Given the description of an element on the screen output the (x, y) to click on. 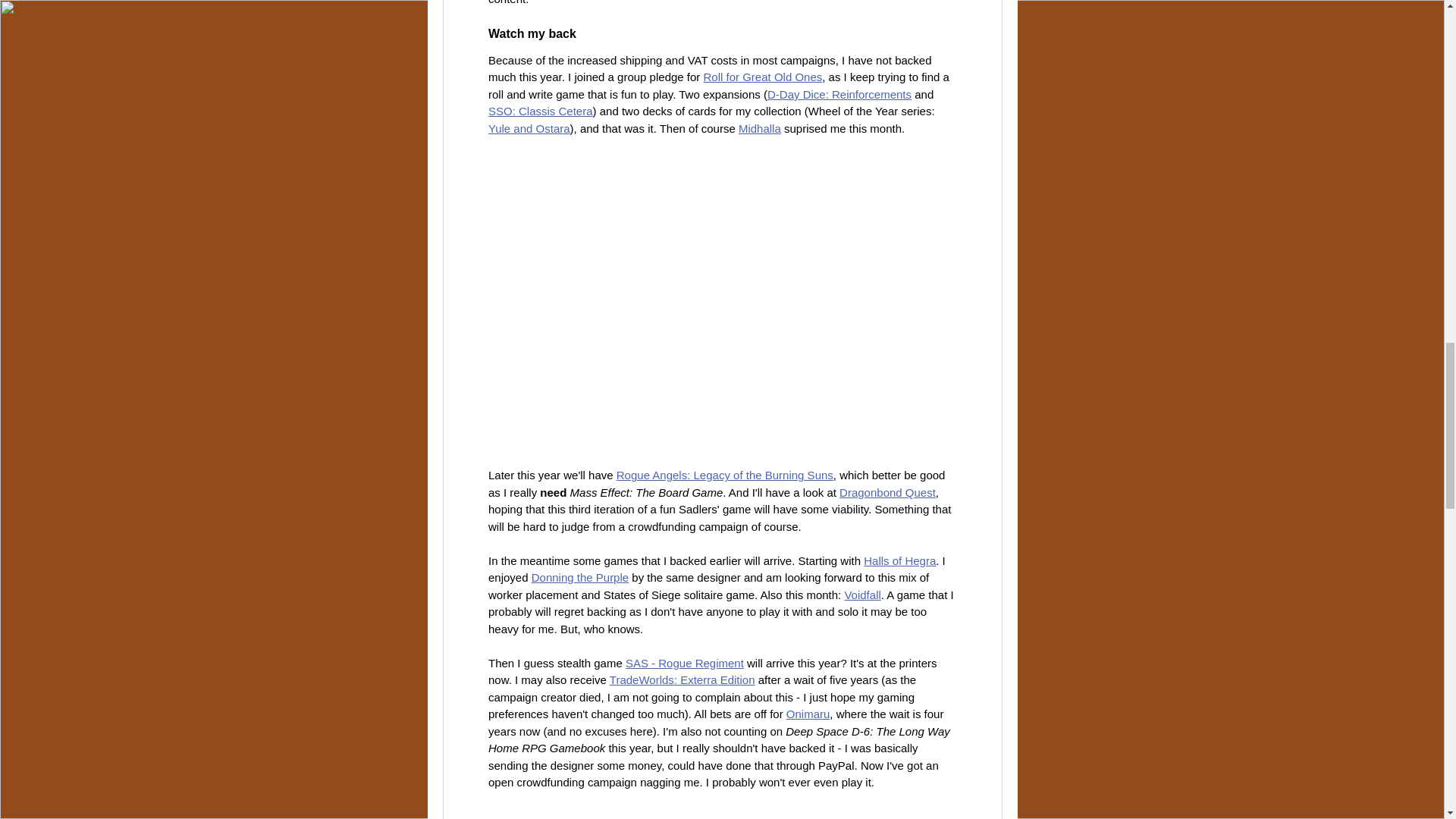
D-Day Dice: Reinforcements (839, 93)
SSO: Classis Cetera (539, 110)
Midhalla (759, 128)
Roll for Great Old Ones (762, 76)
Yule and Ostara (528, 128)
